Given the description of an element on the screen output the (x, y) to click on. 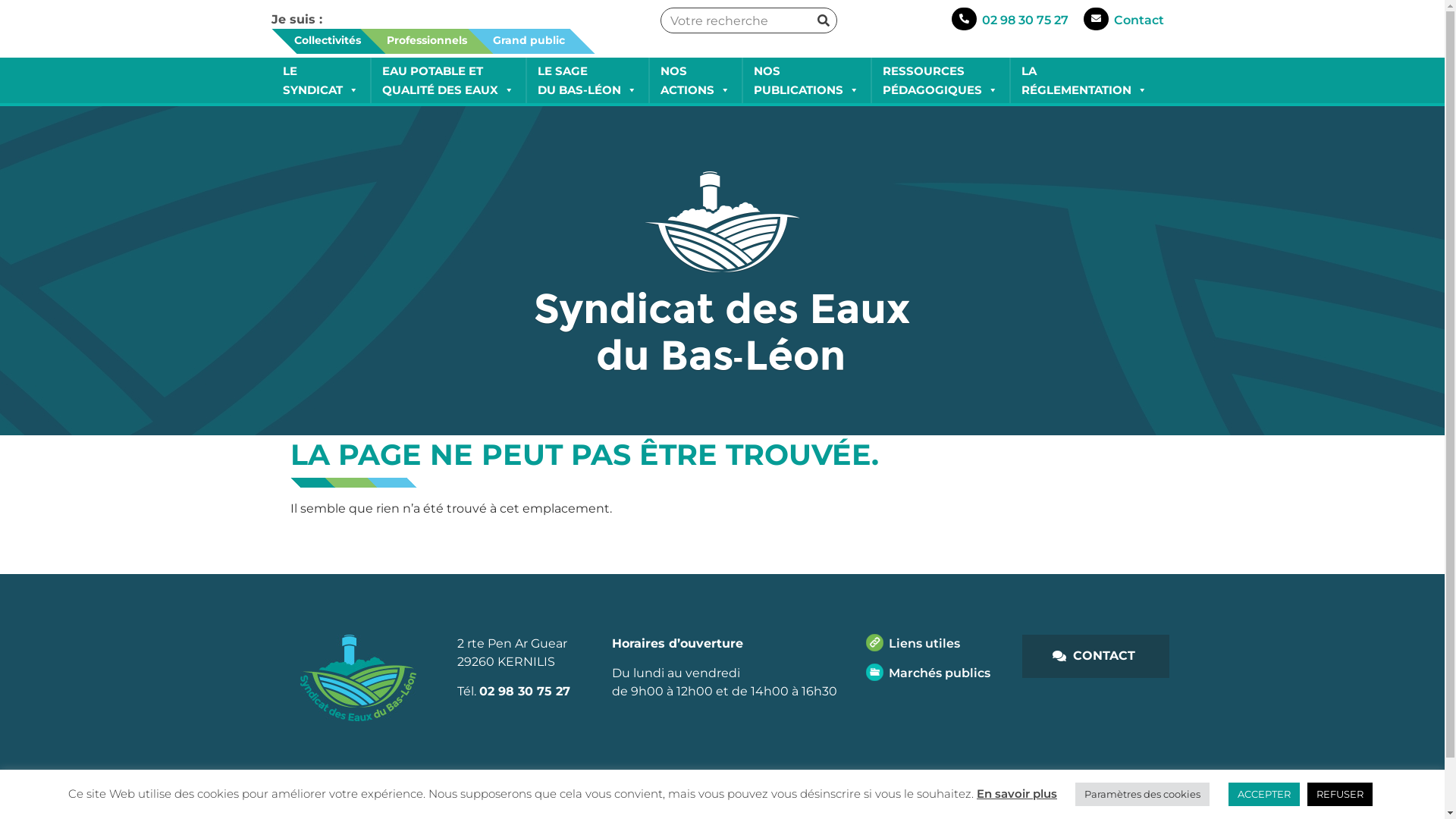
LE
SYNDICAT Element type: text (320, 80)
02 98 30 75 27 Element type: text (1025, 19)
NOS
ACTIONS Element type: text (695, 80)
ACCEPTER Element type: text (1263, 794)
En savoir plus Element type: text (1016, 794)
Contact Element type: text (1138, 19)
Liens utiles Element type: text (913, 642)
Grand public Element type: text (517, 38)
NOS
PUBLICATIONS Element type: text (805, 80)
Professionnels Element type: text (415, 38)
02 98 30 75 27 Element type: text (524, 691)
REFUSER Element type: text (1339, 794)
CONTACT Element type: text (1095, 655)
